Given the description of an element on the screen output the (x, y) to click on. 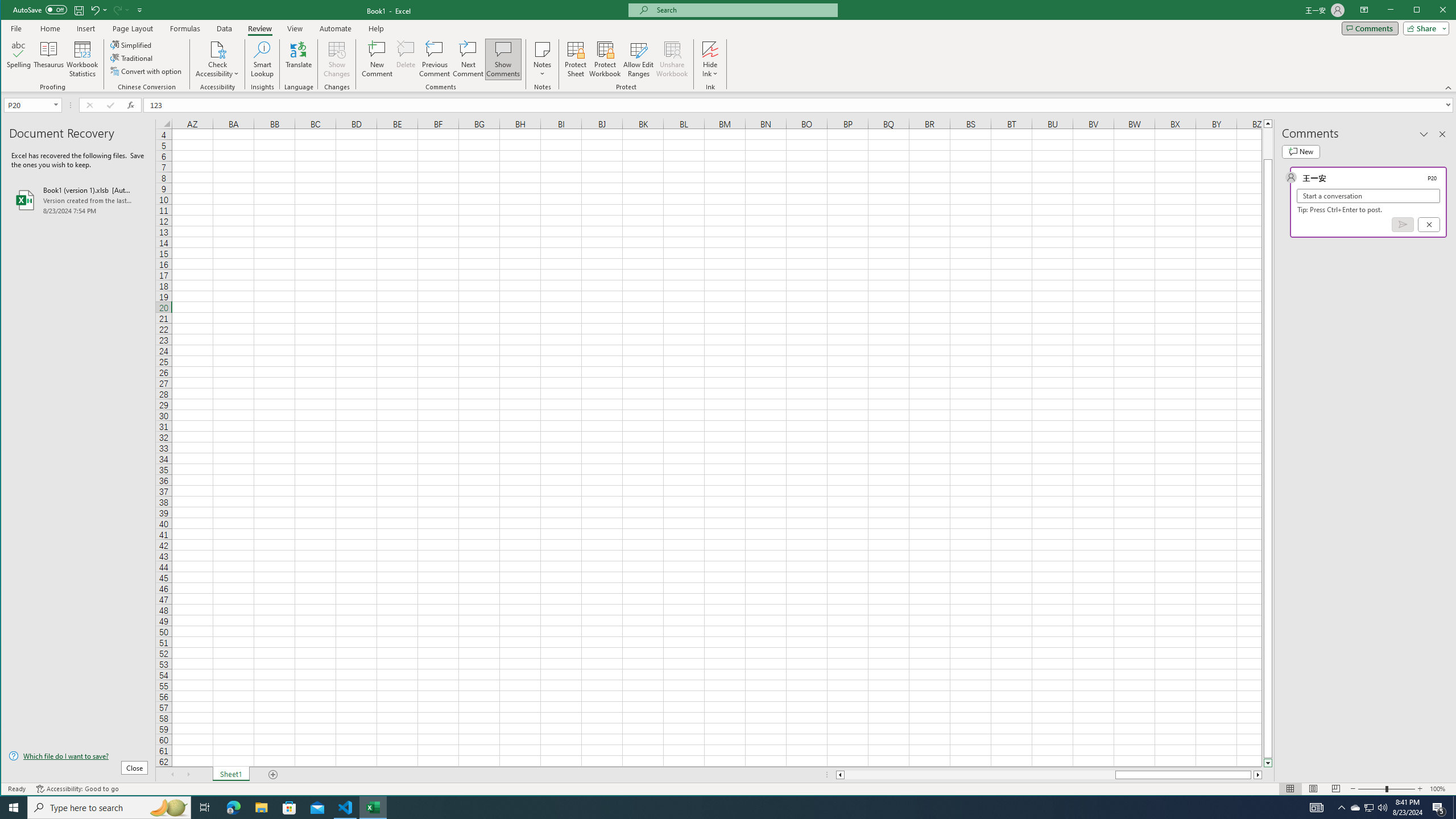
Microsoft Store (289, 807)
Page up (1267, 142)
AutomationID: 4105 (1316, 807)
Excel - 1 running window (373, 807)
Previous Comment (434, 59)
Notes (541, 59)
Running applications (717, 807)
Protect Workbook... (604, 59)
